Given the description of an element on the screen output the (x, y) to click on. 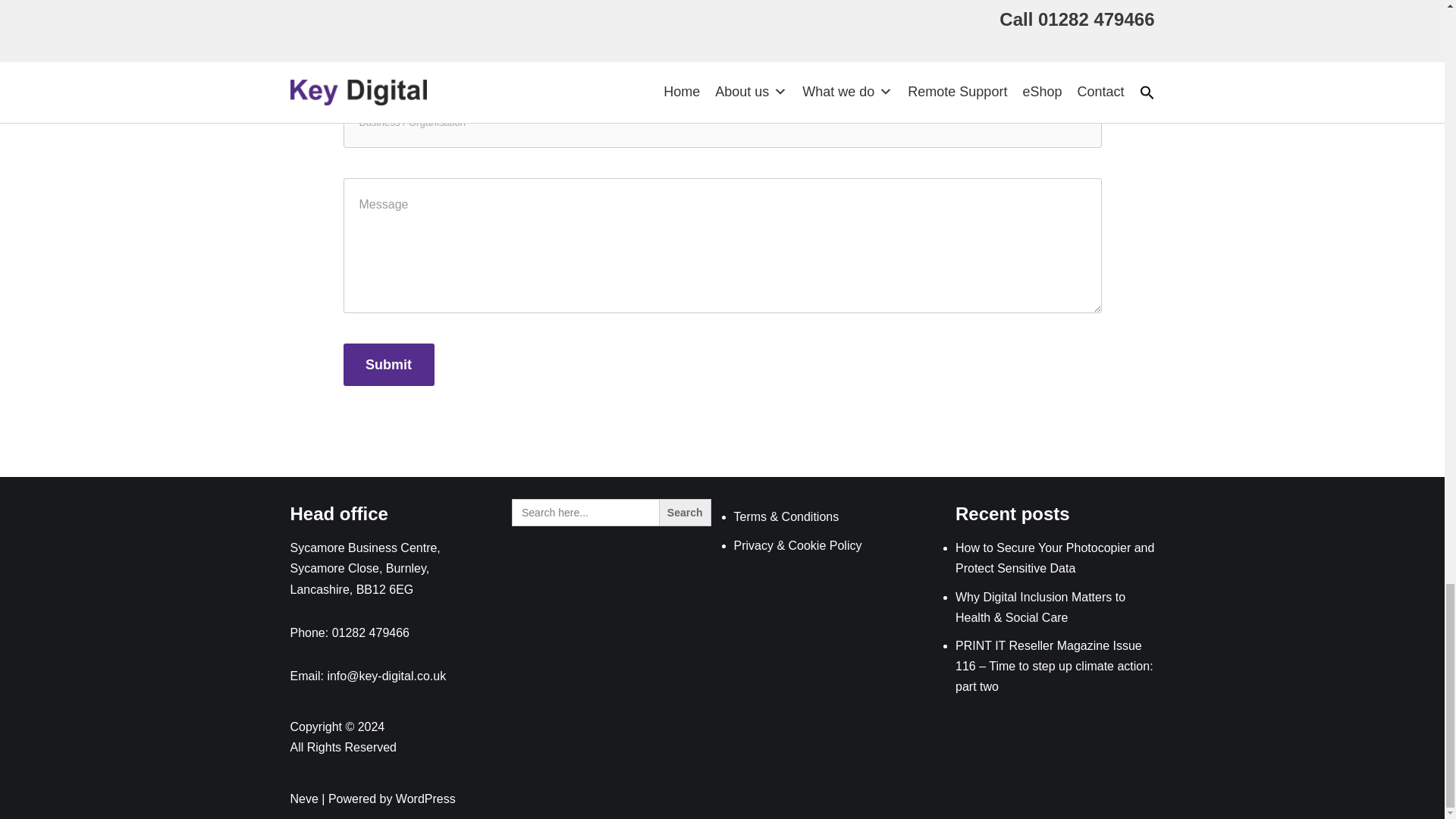
Search (685, 512)
Search (685, 512)
